Given the description of an element on the screen output the (x, y) to click on. 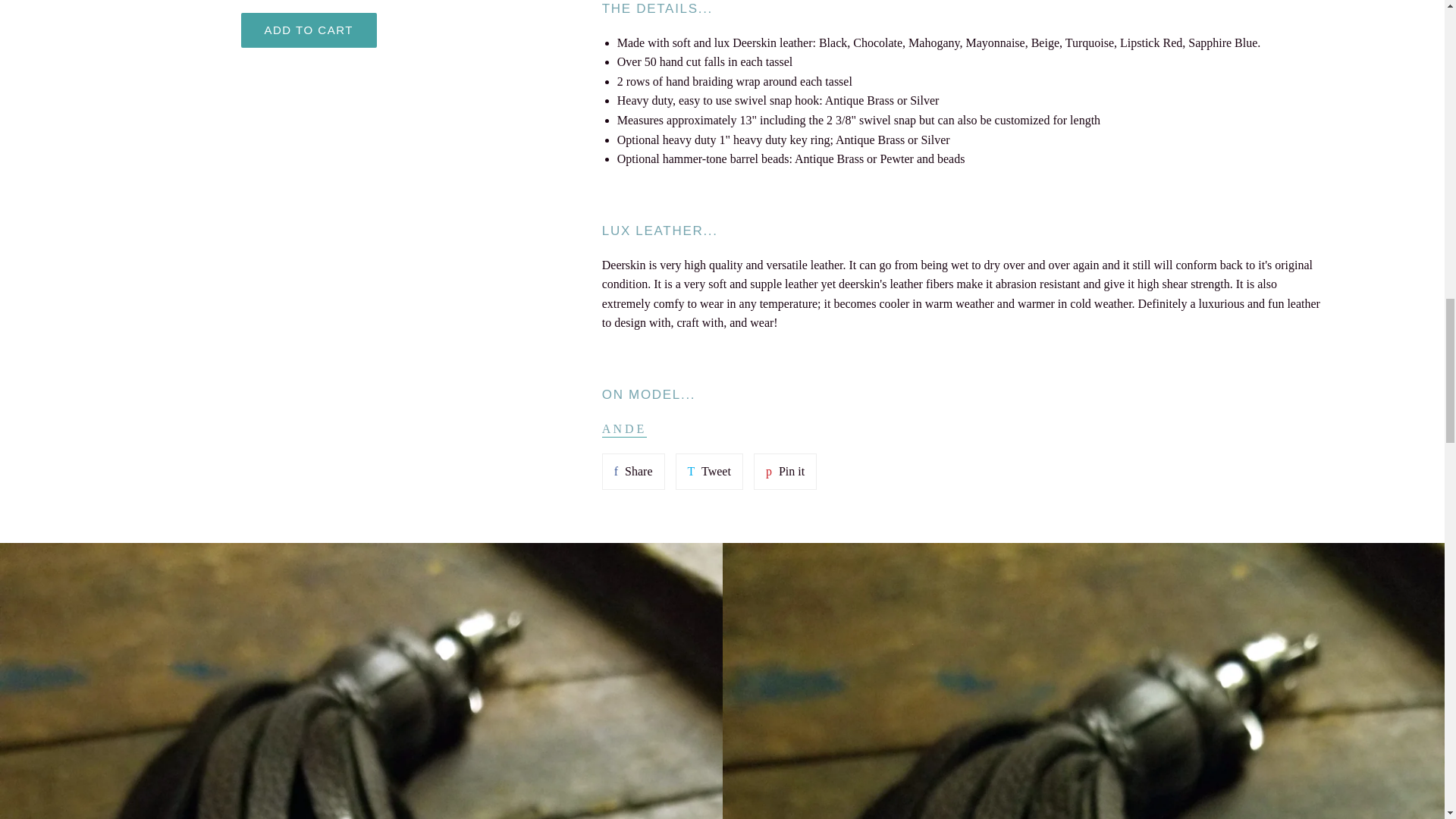
Pin on Pinterest (785, 471)
Share on Facebook (633, 471)
Tweet on Twitter (708, 471)
ANDE TILE WOVEN LEATHER BUCKLE BRACELET (624, 429)
